Given the description of an element on the screen output the (x, y) to click on. 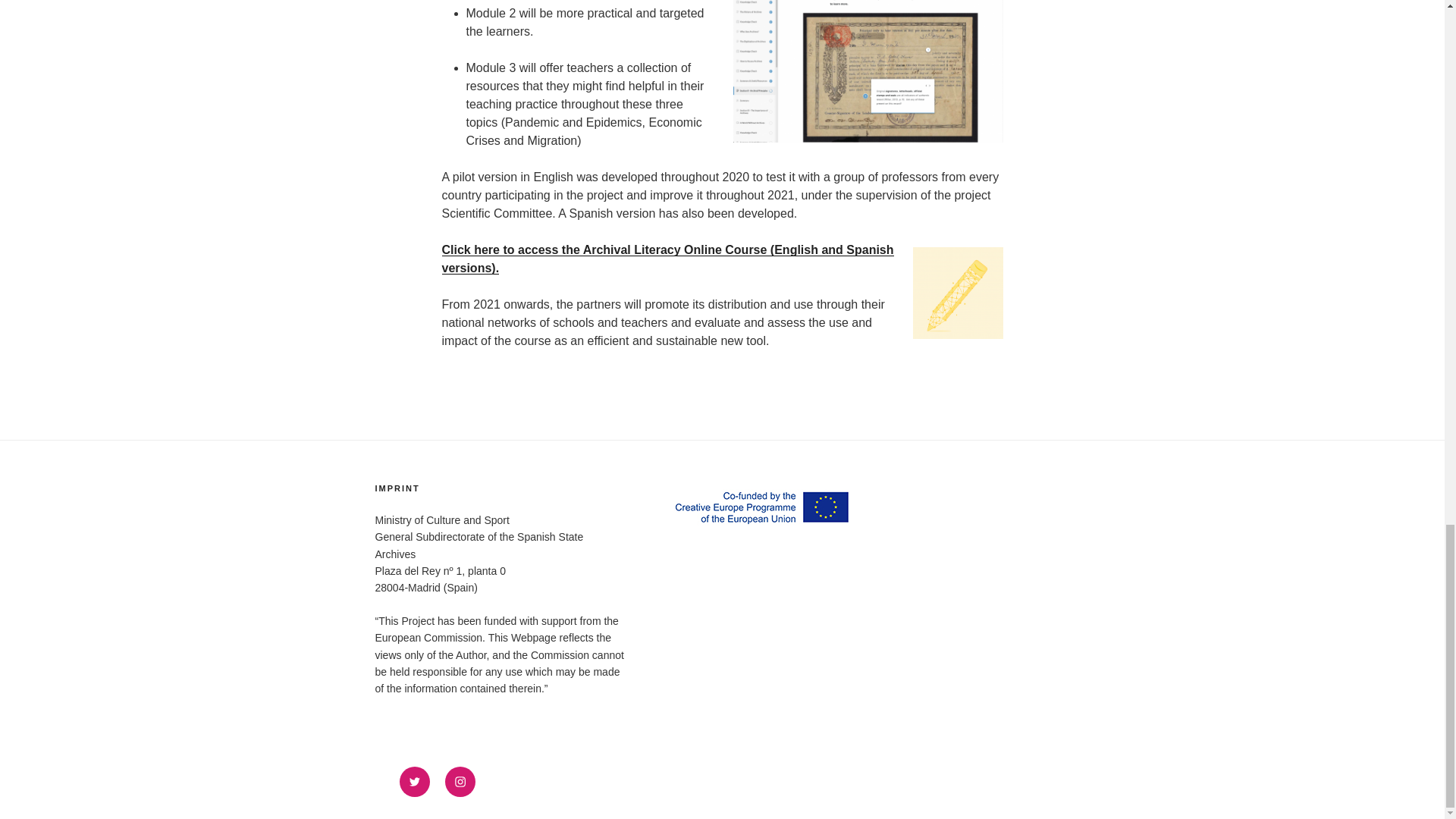
Twitter (413, 781)
Instagram (460, 781)
